Given the description of an element on the screen output the (x, y) to click on. 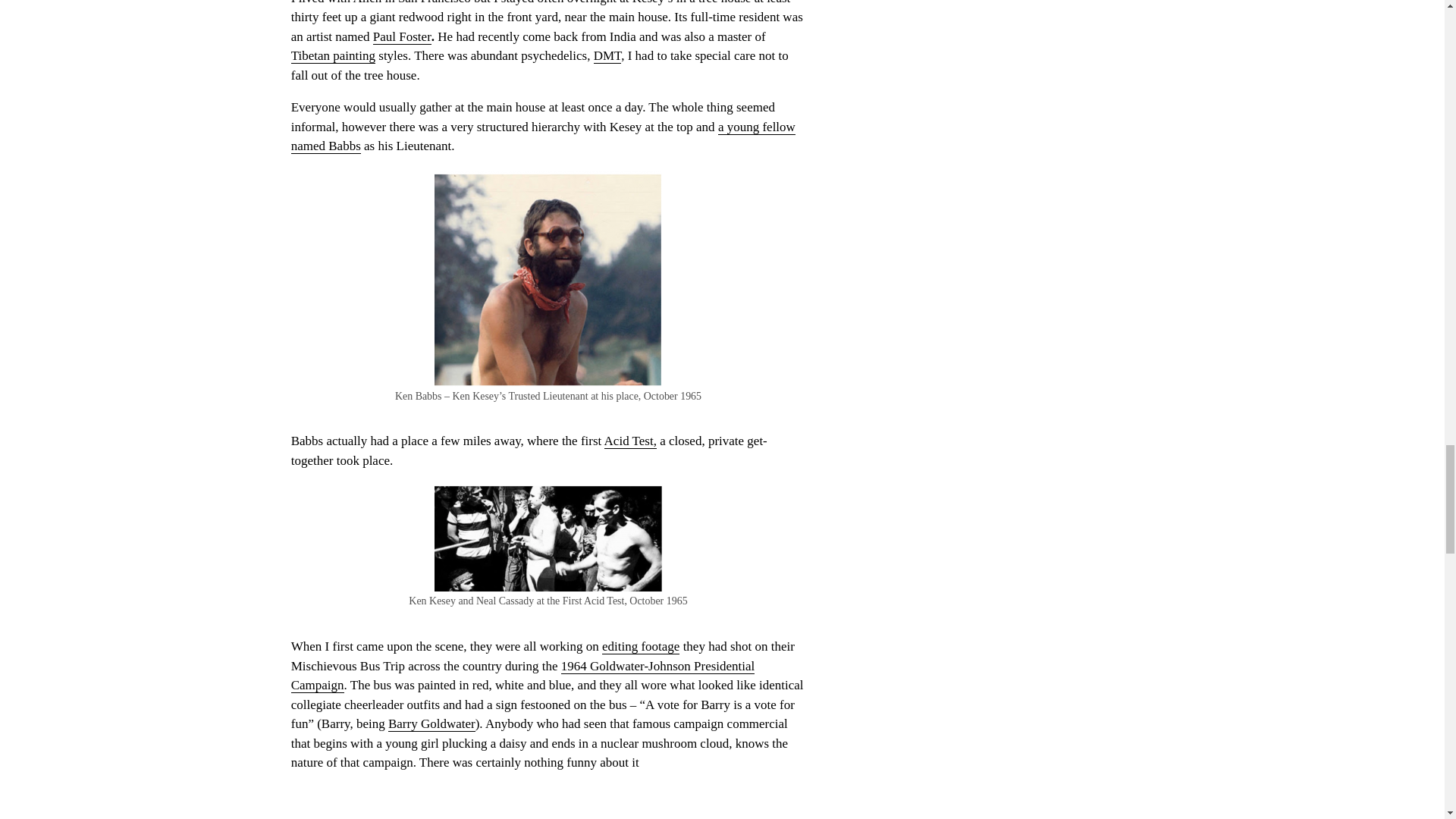
DMT (607, 55)
Acid Test, (630, 441)
Paul Foster (401, 37)
a young fellow named Babbs (542, 136)
Barry Goldwater (432, 724)
Tibetan painting (333, 55)
editing footage (640, 646)
YouTube video player (548, 804)
1964 Goldwater-Johnson Presidential Campaign (523, 676)
